Given the description of an element on the screen output the (x, y) to click on. 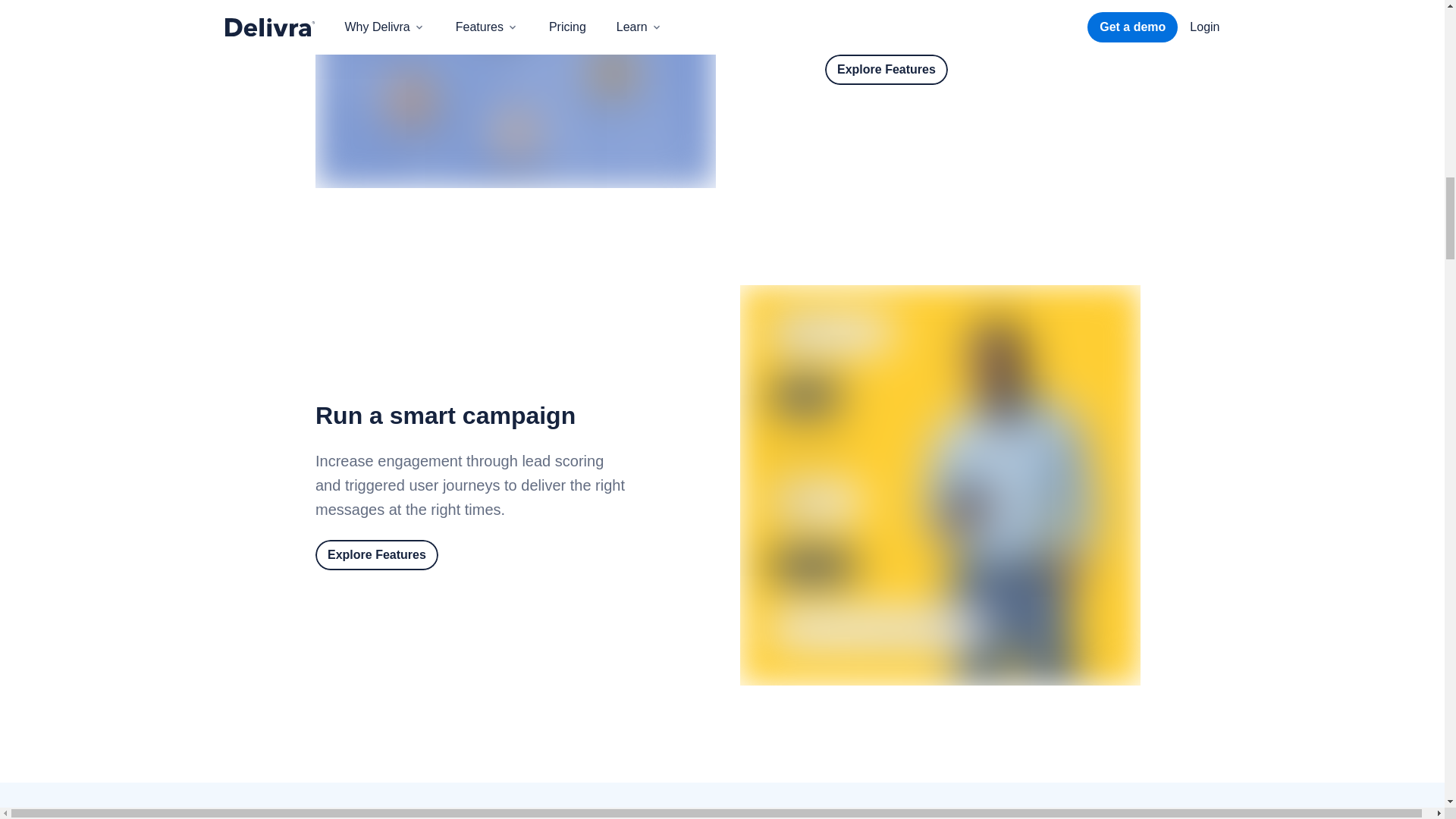
Explore Features (376, 554)
Explore Features (886, 69)
